Given the description of an element on the screen output the (x, y) to click on. 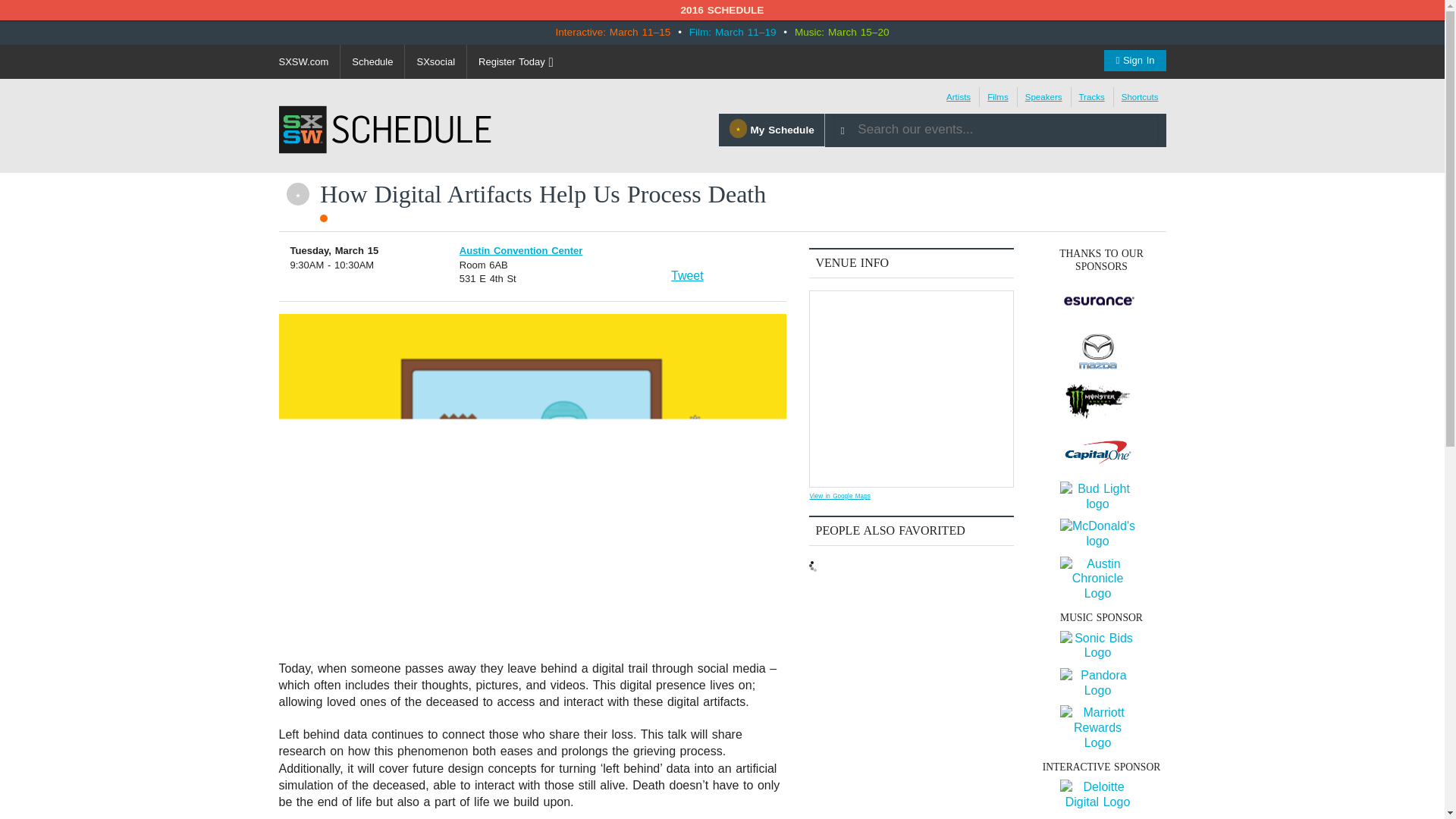
Deloitte Digital Logo (1097, 794)
Speakers (1043, 96)
Monster Energy (1097, 402)
Register Today (515, 61)
You must log in to favorite an event. (297, 193)
Schedule (372, 61)
SXSW 2016 Sponsors (1100, 442)
Films (997, 96)
SXsocial (434, 61)
Interactive (323, 217)
SXSW.com (302, 61)
SXSW 2016 Interactive Sponsor (1100, 805)
Tracks (1091, 96)
Esurance (1097, 301)
Artists (958, 96)
